Given the description of an element on the screen output the (x, y) to click on. 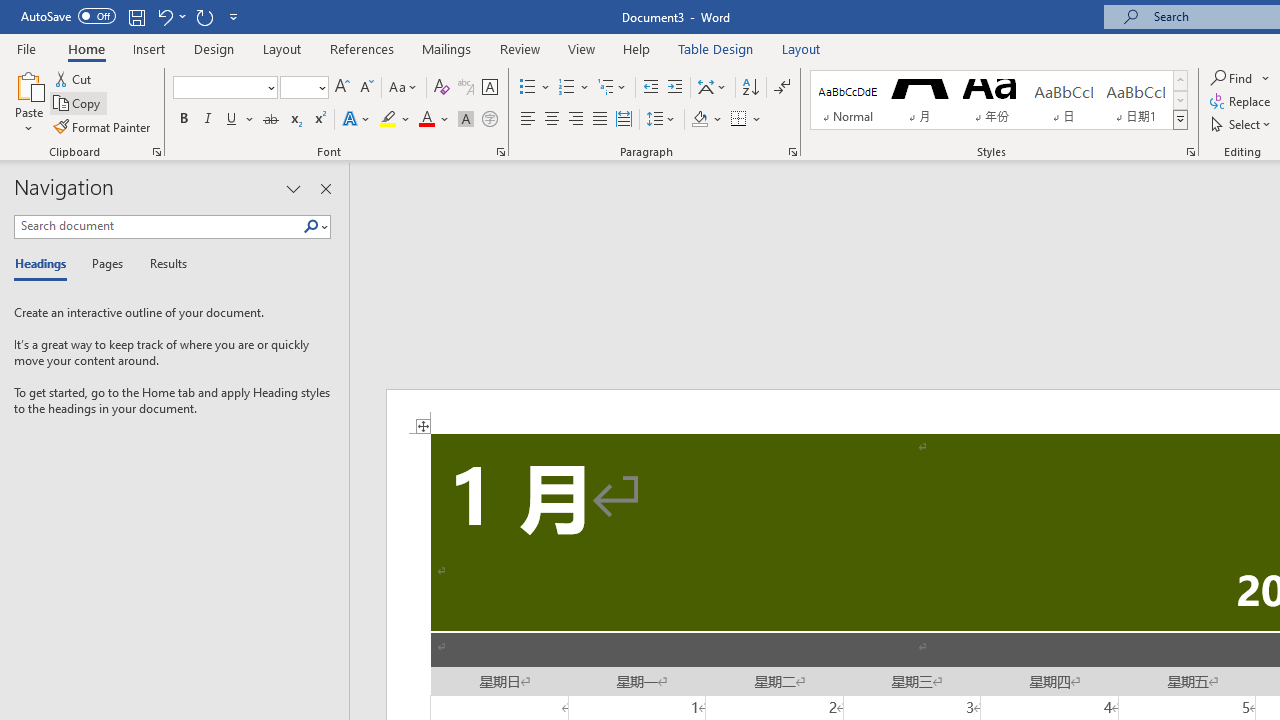
Undo Shrink Font (170, 15)
